Given the description of an element on the screen output the (x, y) to click on. 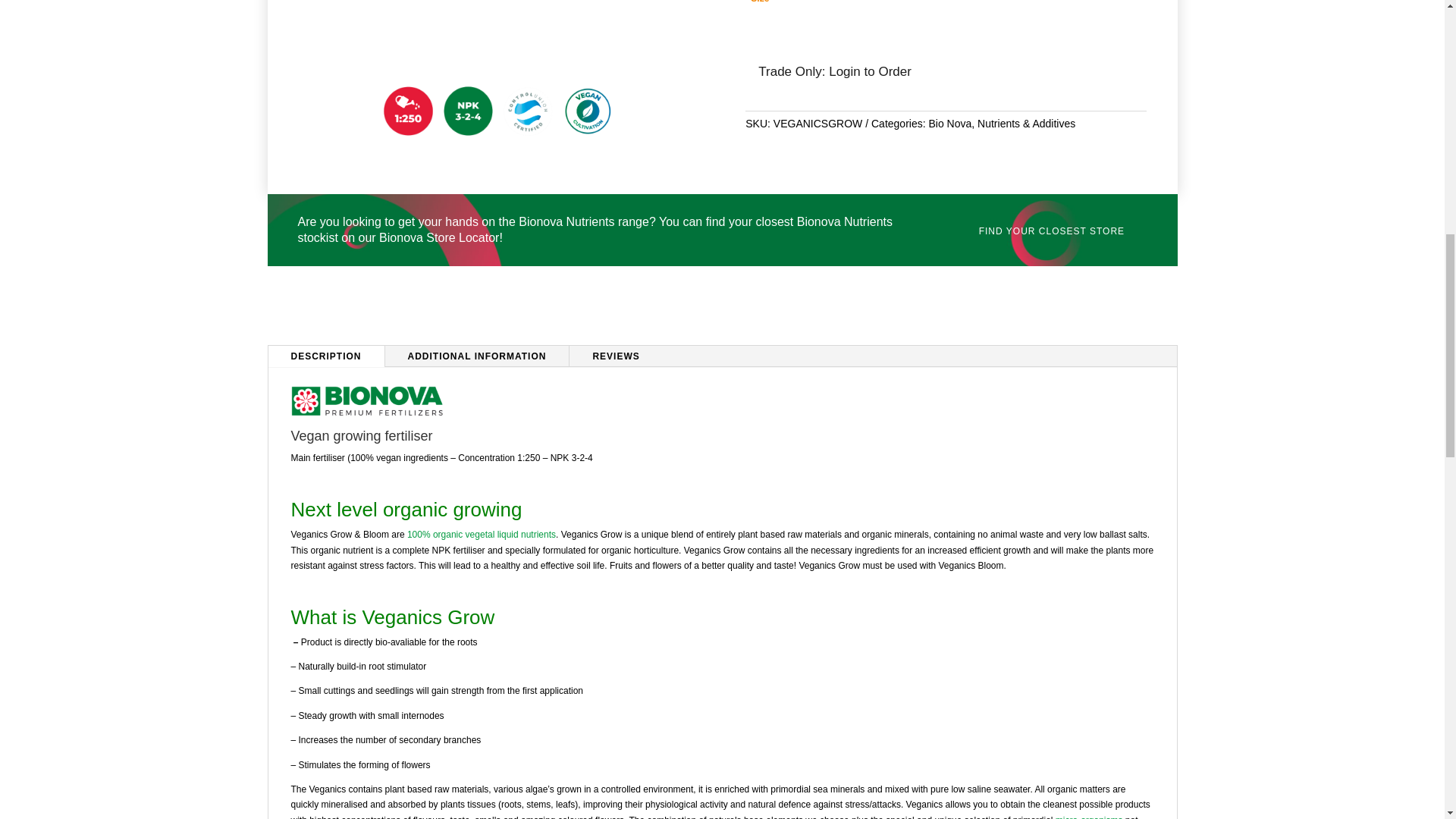
DESCRIPTION (325, 355)
FIND YOUR CLOSEST STORE (1051, 230)
Trade Only: Login to Order (834, 71)
Bio Nova (949, 123)
